Given the description of an element on the screen output the (x, y) to click on. 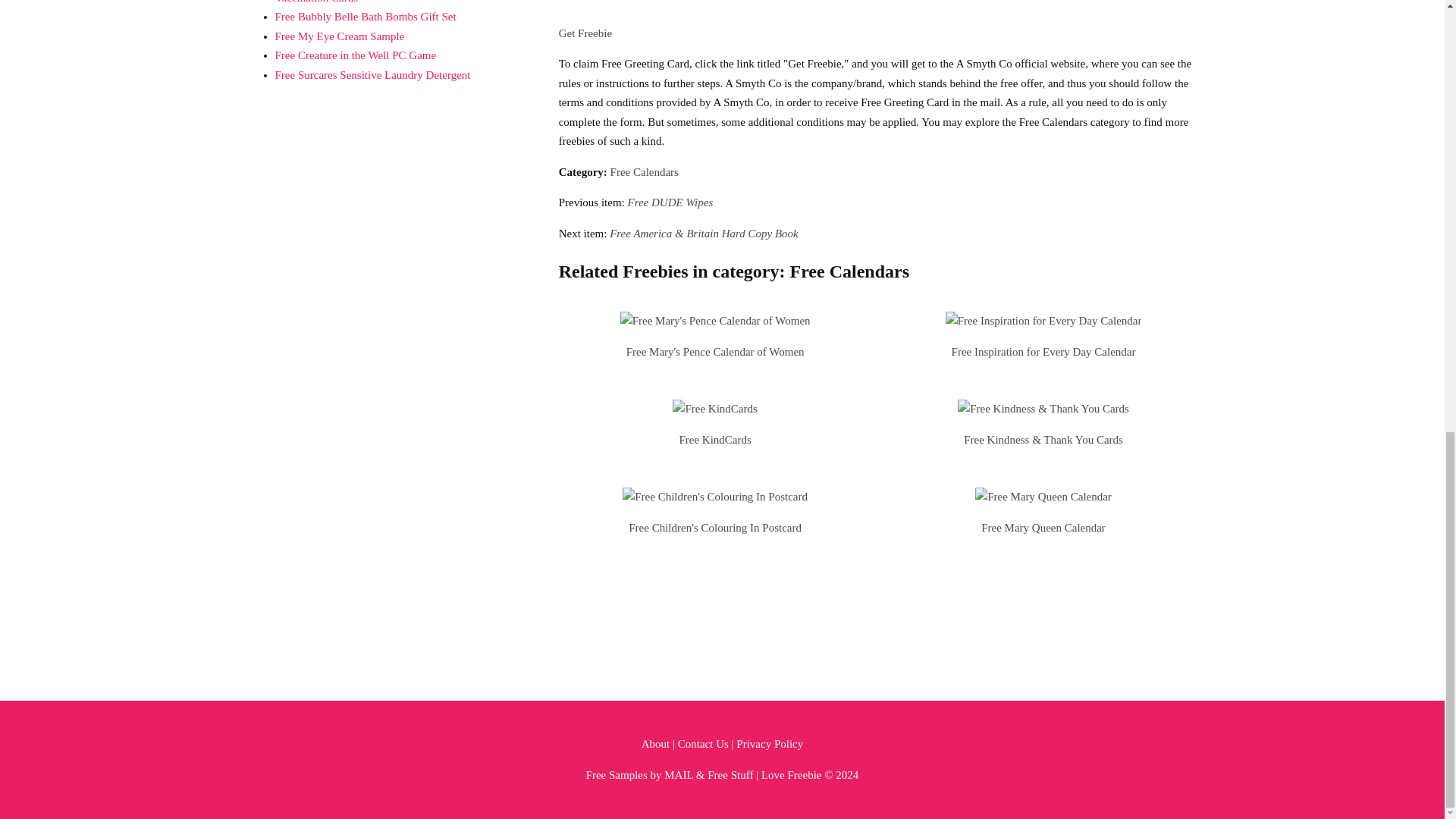
Free Mary's Pence Calendar of Women (715, 351)
Free KindCards (714, 439)
Free Calendars (644, 172)
Free DUDE Wipes (670, 202)
Free Children's Colouring In Postcard (715, 527)
Free Mary Queen Calendar (1043, 527)
Get Freebie (585, 33)
Free Inspiration for Every Day Calendar (1043, 351)
